Given the description of an element on the screen output the (x, y) to click on. 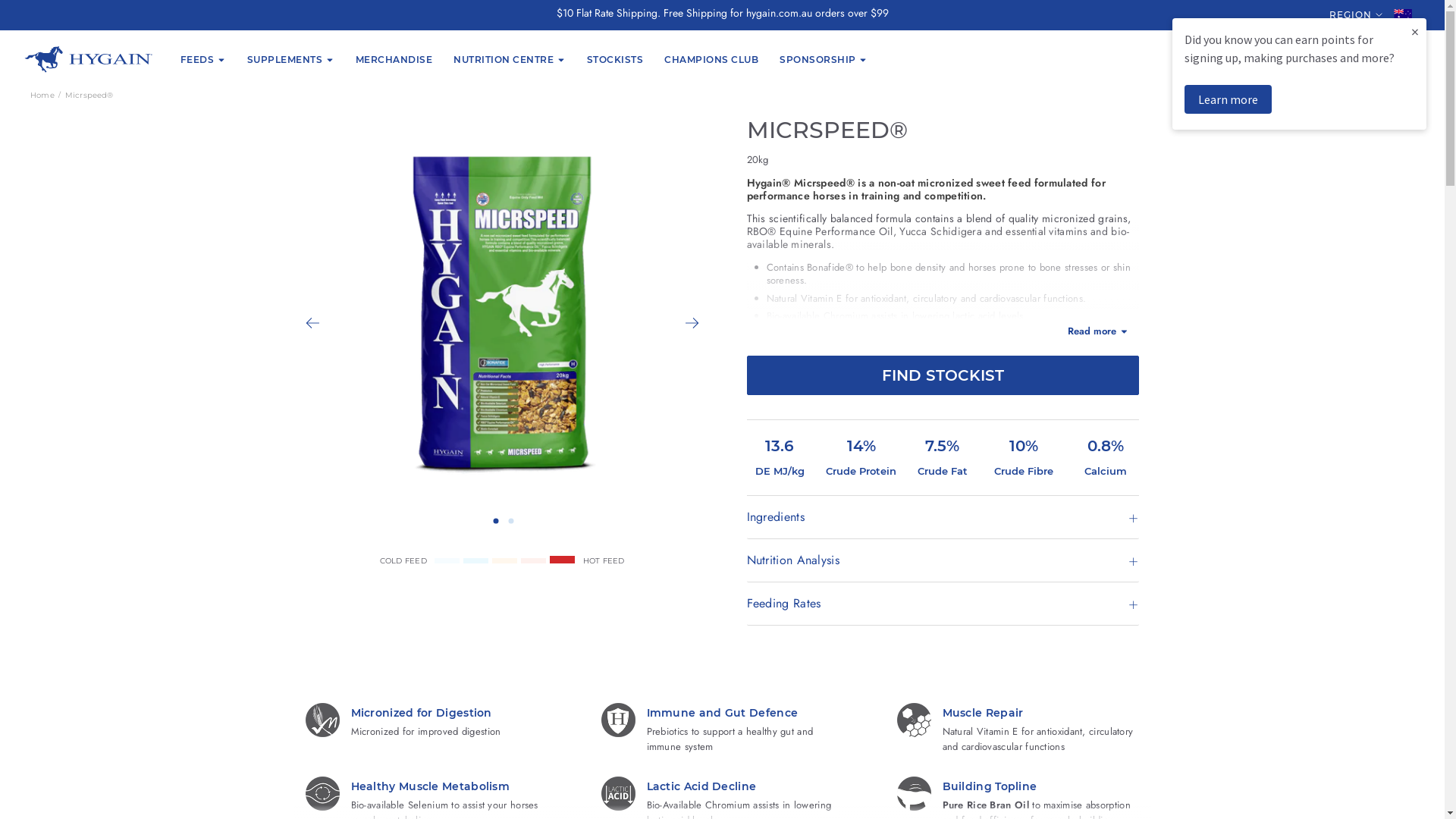
Home Element type: text (42, 94)
REGION Element type: text (1350, 15)
SPONSORSHIP
EXPAND Element type: text (823, 59)
1 Element type: text (495, 520)
CHAMPIONS CLUB Element type: text (711, 59)
2 Element type: text (510, 520)
MERCHANDISE Element type: text (394, 59)
Learn more Element type: text (1227, 98)
0 Element type: text (1404, 58)
STOCKISTS Element type: text (614, 59)
FIND STOCKIST Element type: text (942, 375)
FEEDS
EXPAND Element type: text (202, 59)
Read more Element type: text (942, 331)
HYGAIN AUSTRALIA Element type: text (88, 58)
SUPPLEMENTS
EXPAND Element type: text (290, 59)
NUTRITION CENTRE
EXPAND Element type: text (509, 59)
